Given the description of an element on the screen output the (x, y) to click on. 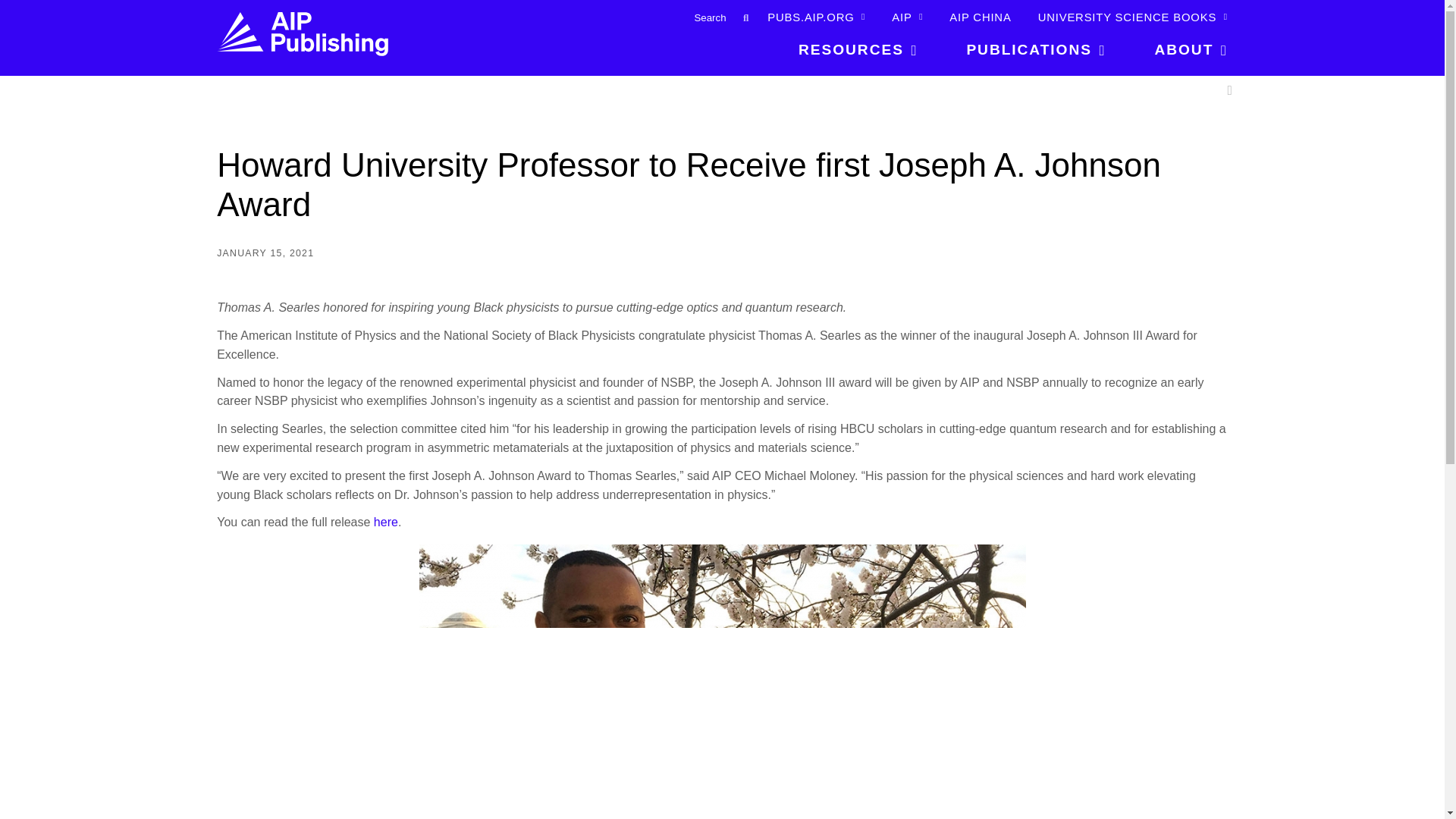
PUBS.AIP.ORG (815, 17)
here (385, 521)
UNIVERSITY SCIENCE BOOKS (1132, 17)
PUBLICATIONS (1035, 55)
ABOUT (1178, 55)
Search (694, 17)
AIP CHINA (979, 17)
Submit Search (745, 17)
AIP (907, 17)
RESOURCES (858, 55)
